Given the description of an element on the screen output the (x, y) to click on. 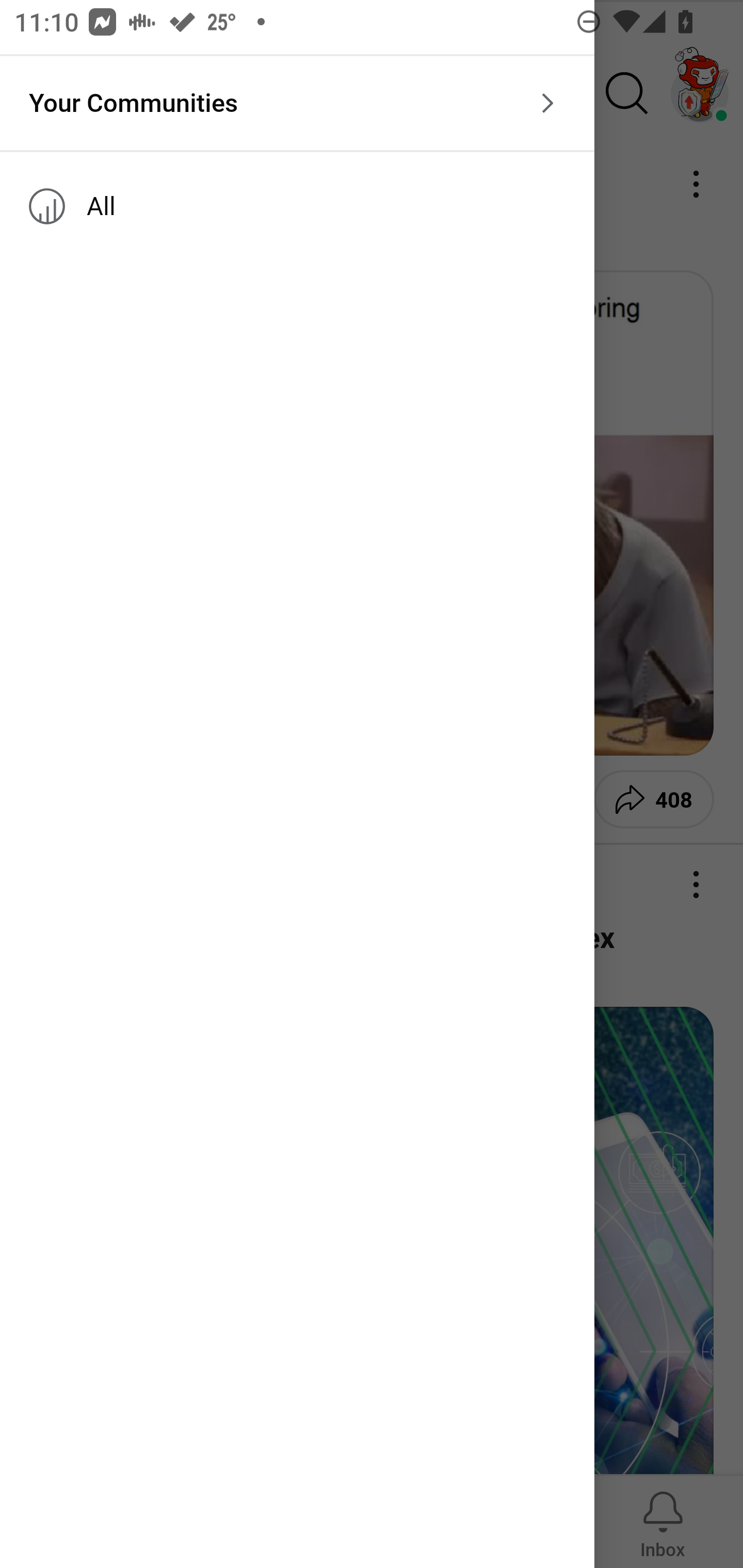
Your Communities (297, 103)
All (297, 206)
